Given the description of an element on the screen output the (x, y) to click on. 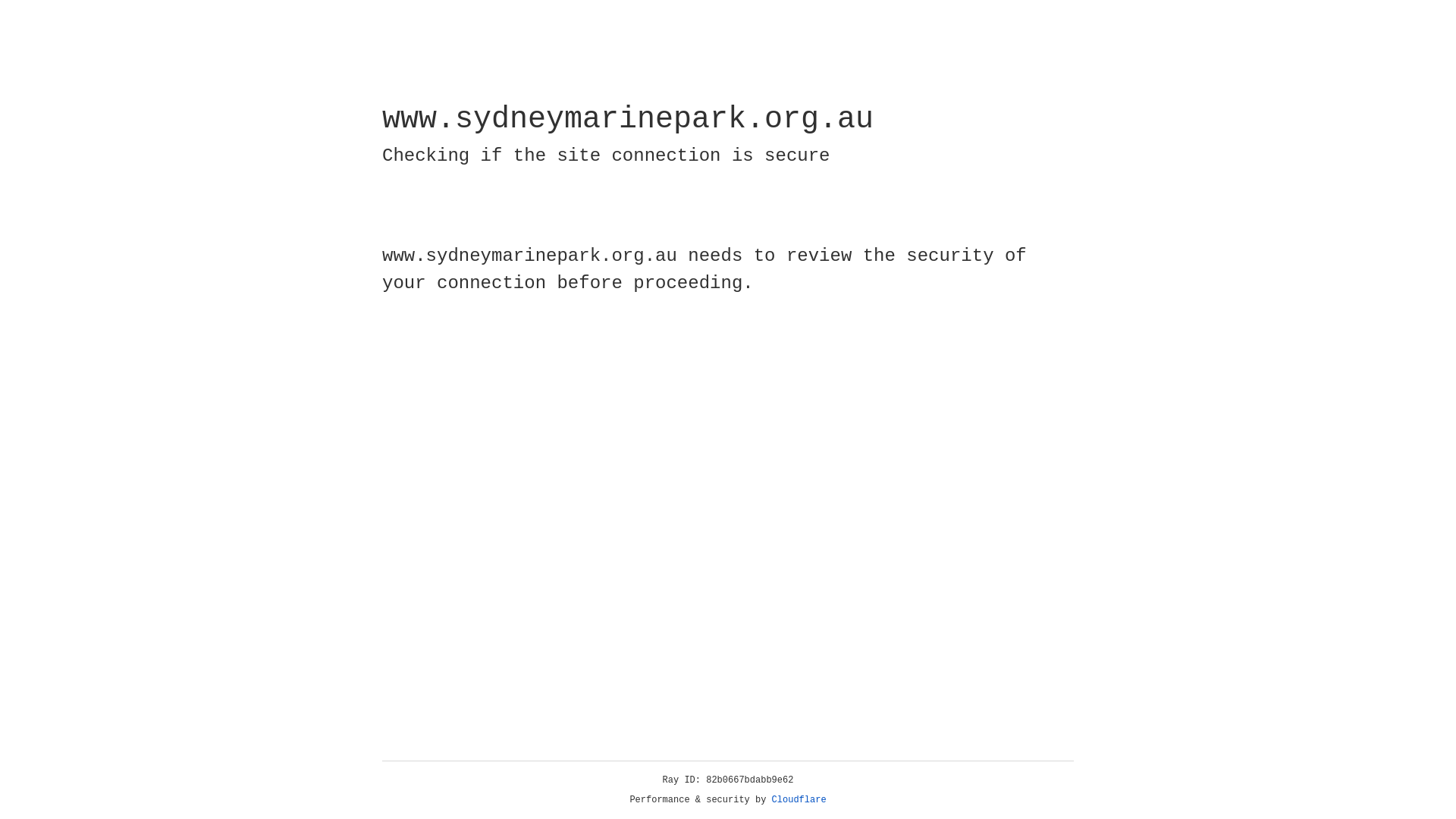
Cloudflare Element type: text (798, 799)
